Given the description of an element on the screen output the (x, y) to click on. 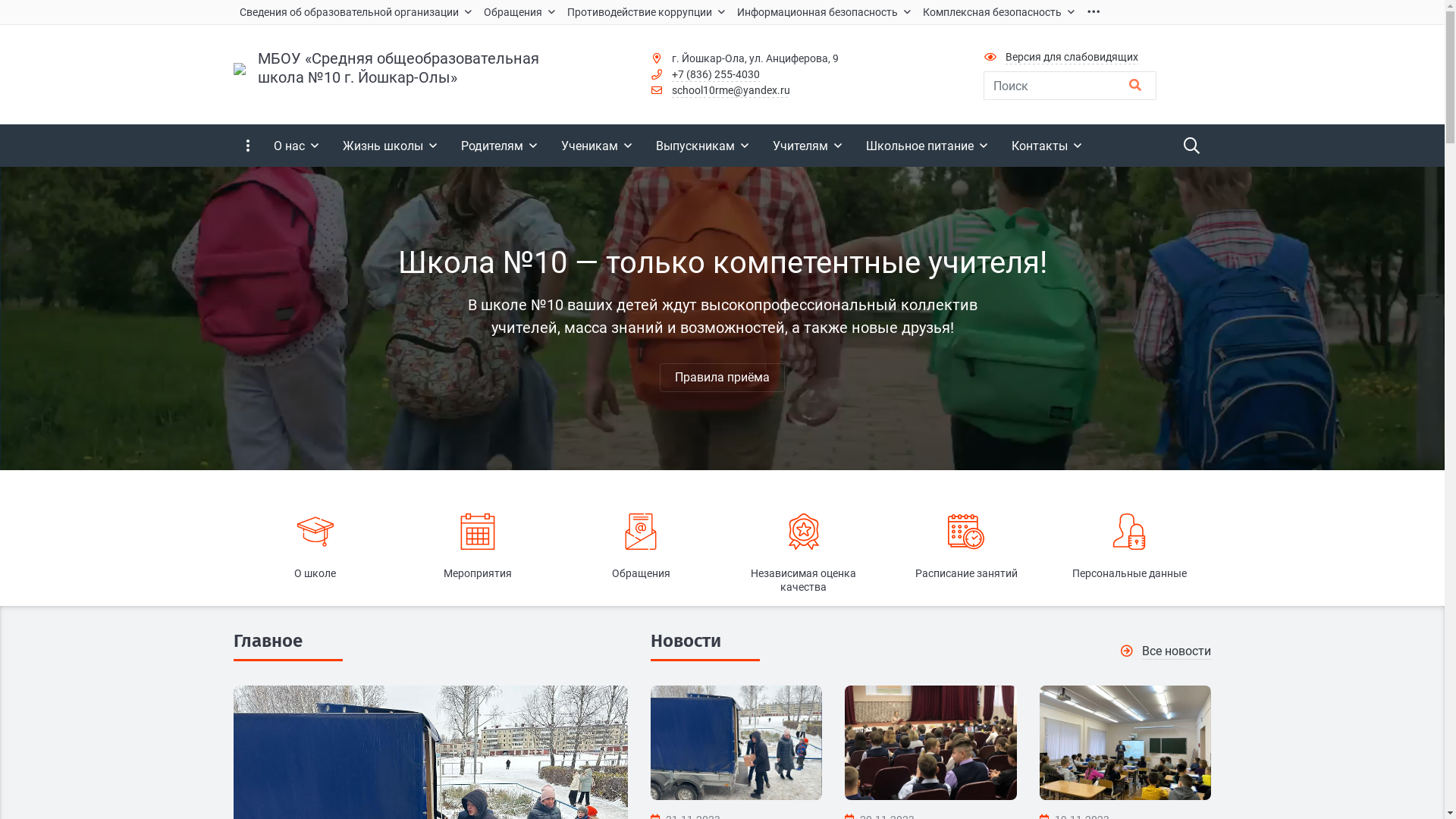
school10rme@yandex.ru Element type: text (730, 90)
+7 (836) 255-4030 Element type: text (715, 74)
